Given the description of an element on the screen output the (x, y) to click on. 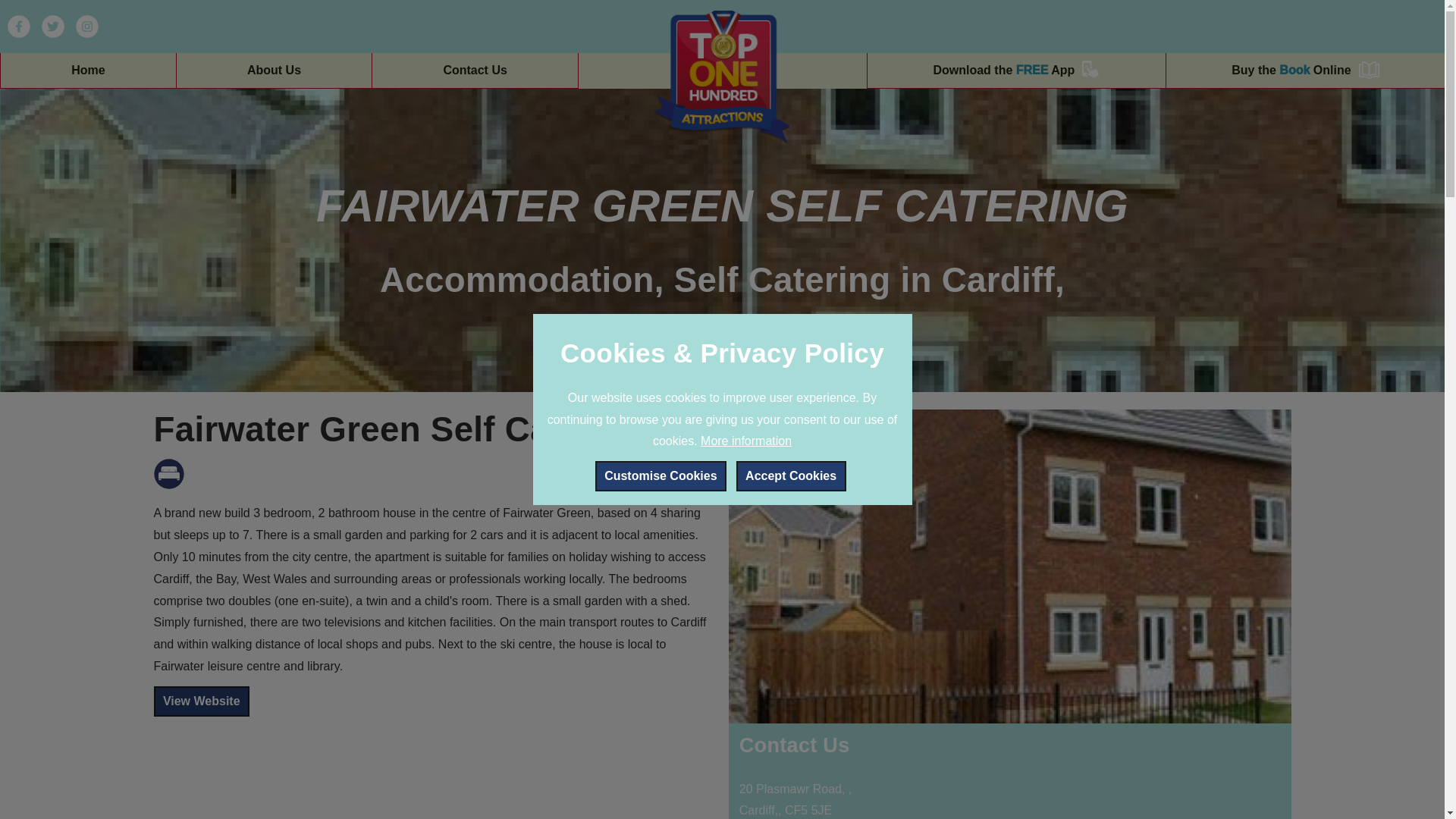
Contact Us (475, 70)
Home (88, 70)
Accommodation (167, 473)
Download the FREE App (1016, 70)
About Us (273, 70)
View Website (200, 701)
